Given the description of an element on the screen output the (x, y) to click on. 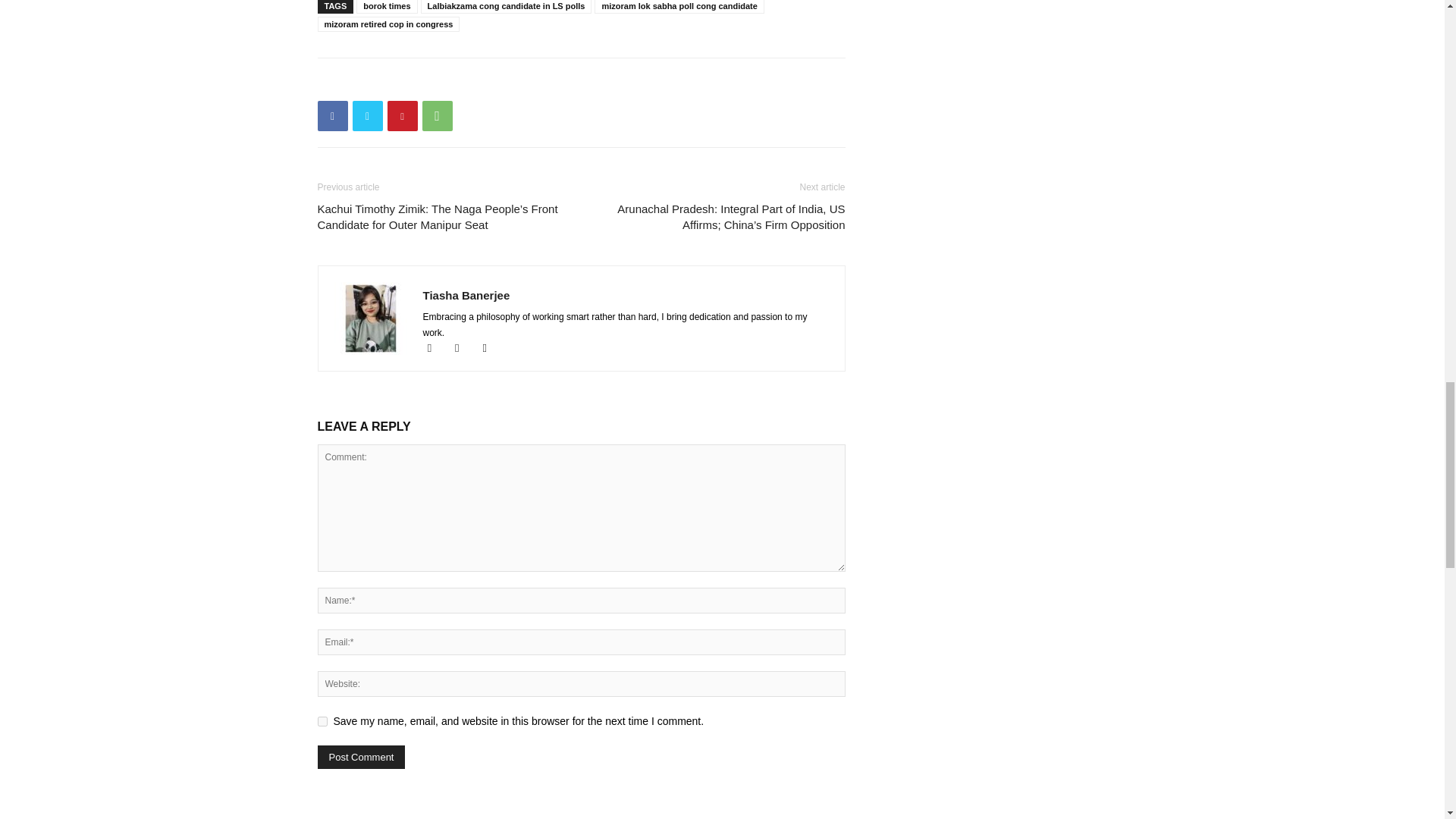
Post Comment (360, 757)
yes (321, 721)
